Given the description of an element on the screen output the (x, y) to click on. 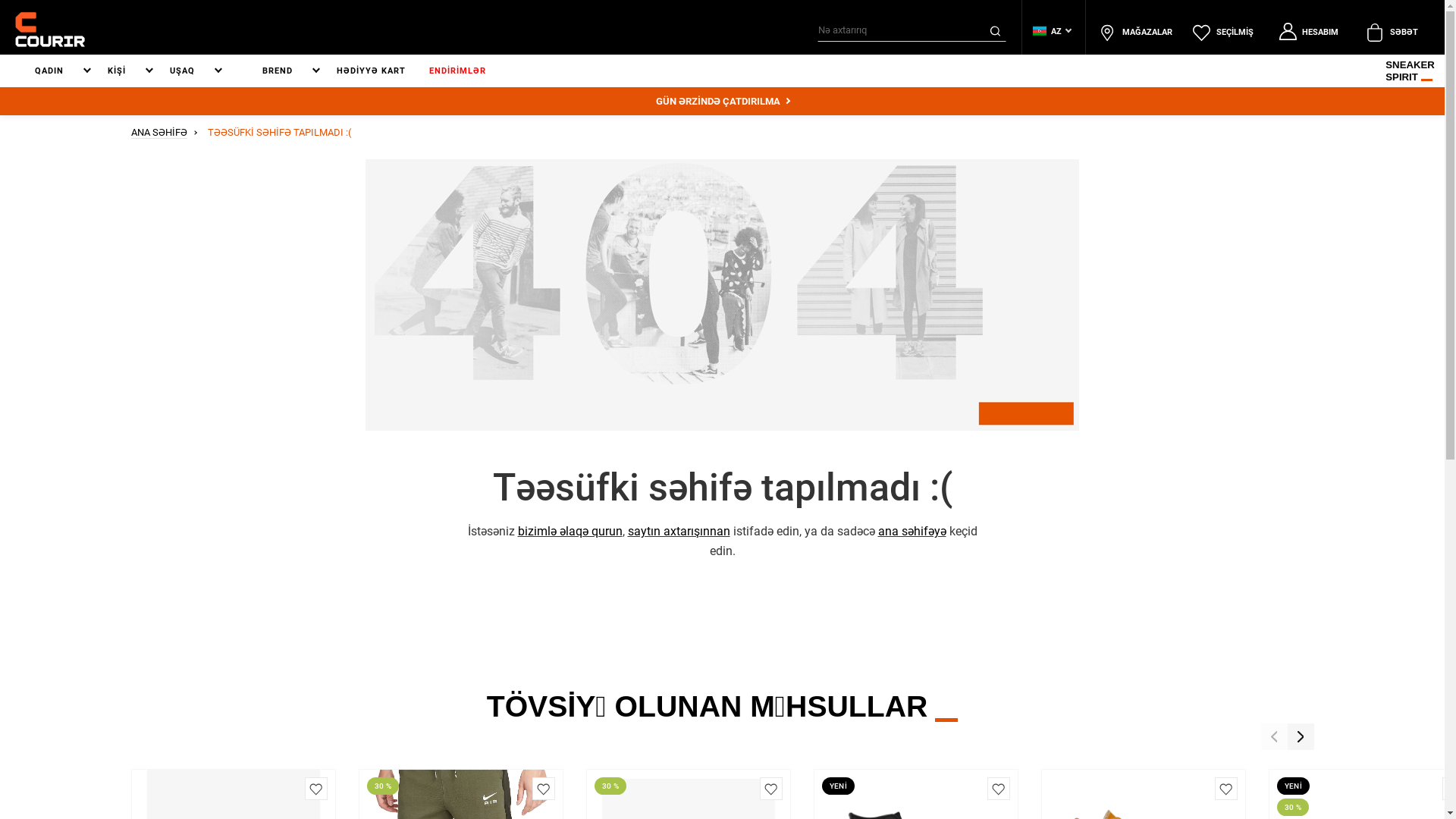
QADIN Element type: text (59, 70)
Courir Element type: hover (49, 29)
SNEAKER
SPIRIT Element type: text (1409, 71)
HESABIM Element type: text (1306, 31)
 AZ Element type: hover (1039, 29)
BREND Element type: text (287, 70)
AZ Element type: text (1051, 31)
